Given the description of an element on the screen output the (x, y) to click on. 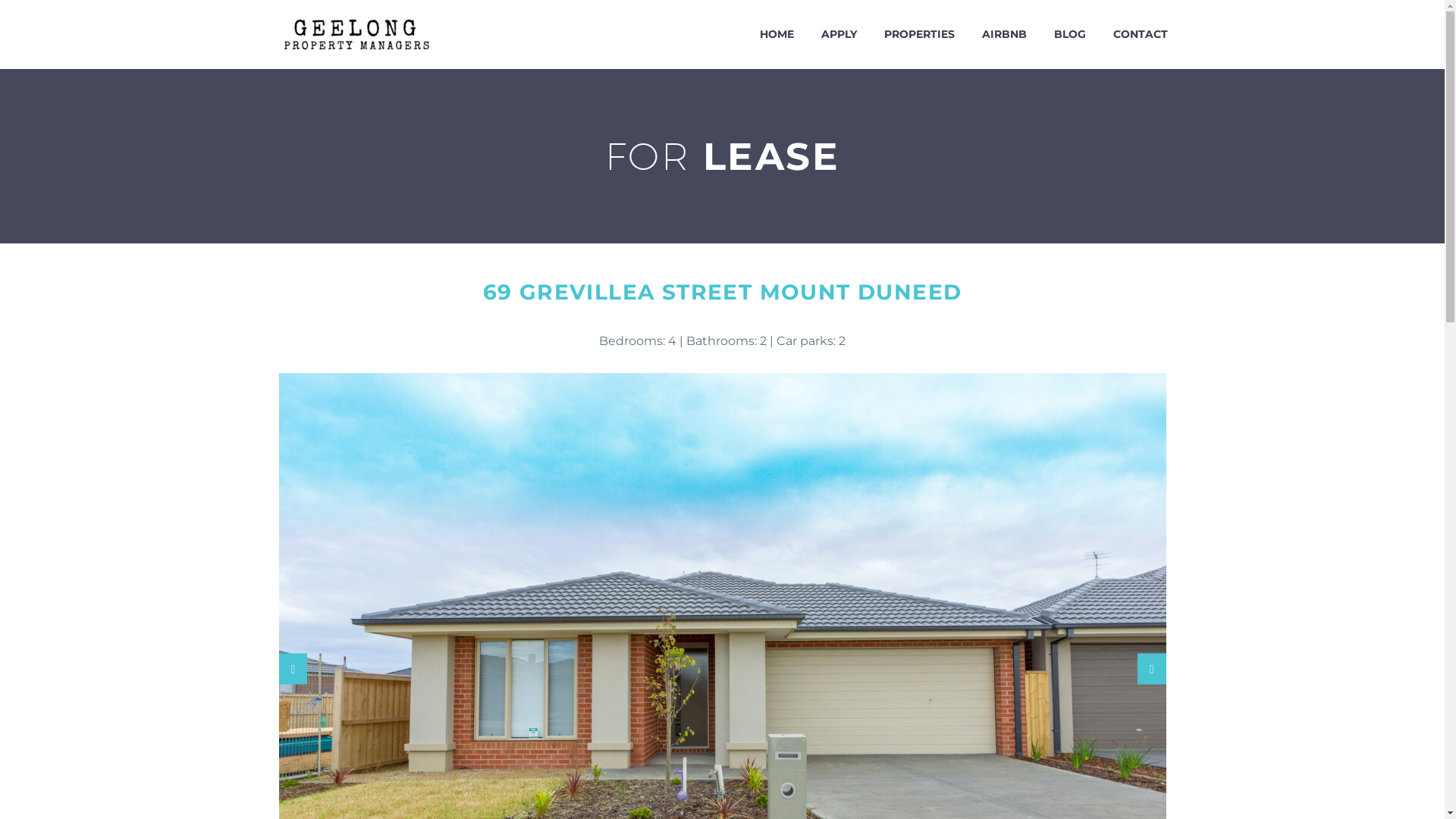
CONTACT Element type: text (1139, 34)
HOME Element type: text (775, 34)
PROPERTIES Element type: text (918, 34)
APPLY Element type: text (838, 34)
BLOG Element type: text (1068, 34)
AIRBNB Element type: text (1004, 34)
